Given the description of an element on the screen output the (x, y) to click on. 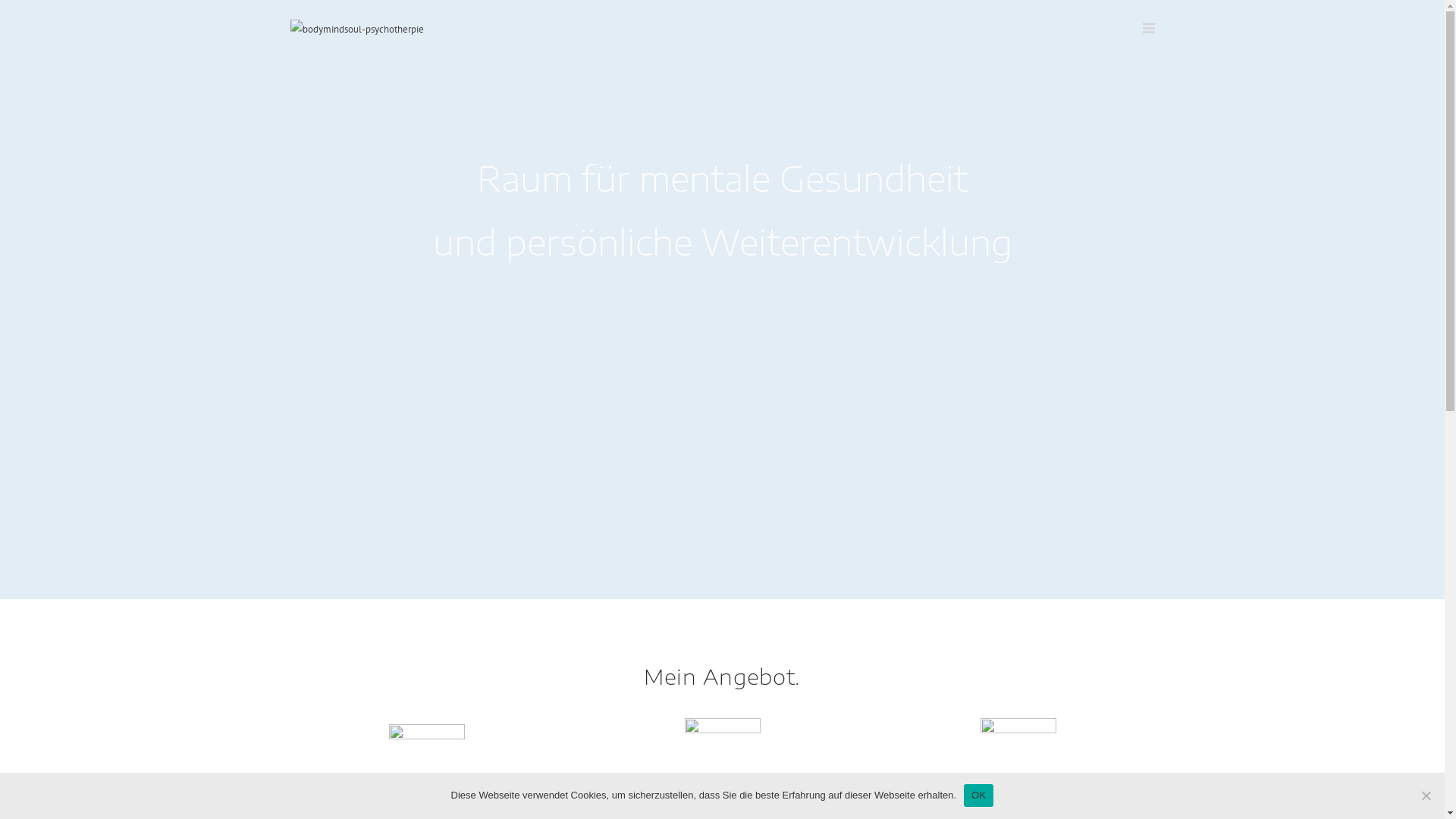
Nein Element type: hover (1425, 795)
OK Element type: text (978, 795)
